Given the description of an element on the screen output the (x, y) to click on. 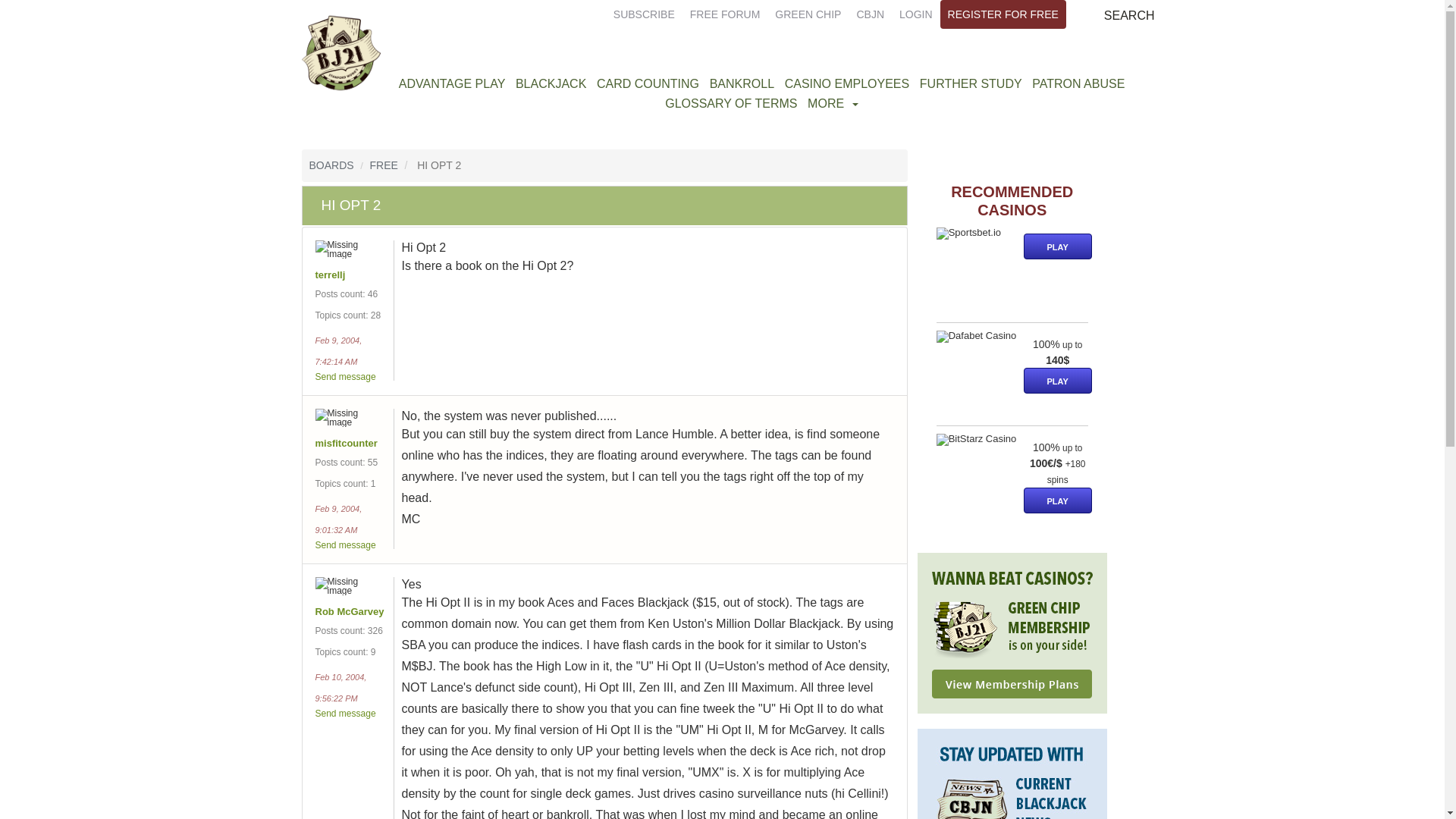
BANKROLL (741, 83)
CARD COUNTING (647, 83)
SUBSCRIBE (643, 14)
REGISTER FOR FREE (1002, 14)
FREE FORUM (725, 14)
CASINO EMPLOYEES (847, 83)
LOGIN (915, 14)
CBJN (869, 14)
BLACKJACK (550, 83)
ADVANTAGE PLAY (451, 83)
GREEN CHIP (807, 14)
